Given the description of an element on the screen output the (x, y) to click on. 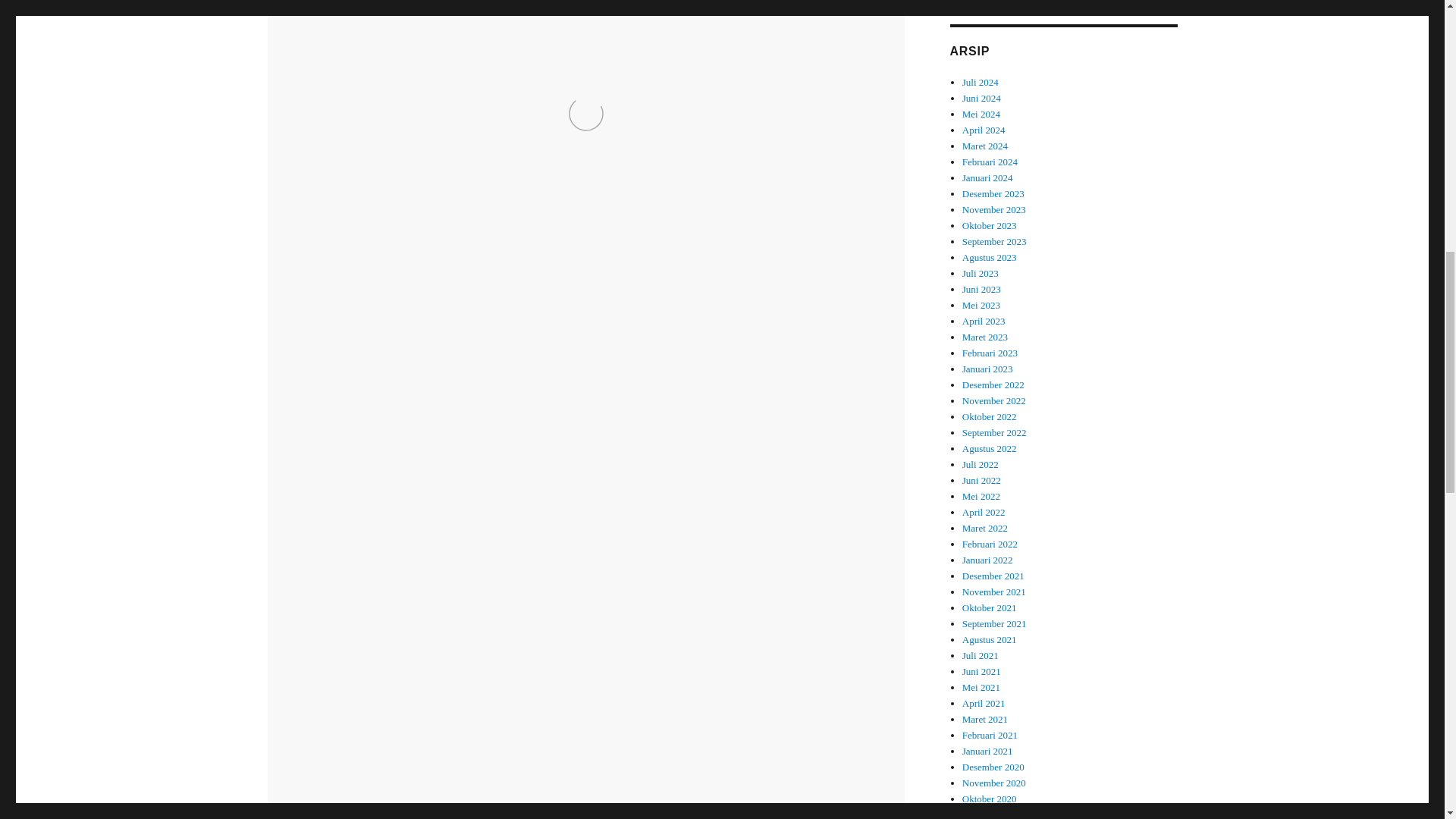
September 2023 (994, 241)
Juli 2024 (980, 81)
Juni 2023 (981, 288)
Maret 2024 (984, 145)
Juli 2023 (980, 273)
Agustus 2023 (989, 256)
Juni 2024 (981, 98)
Desember 2023 (993, 193)
Mei 2024 (981, 113)
April 2023 (984, 320)
